Given the description of an element on the screen output the (x, y) to click on. 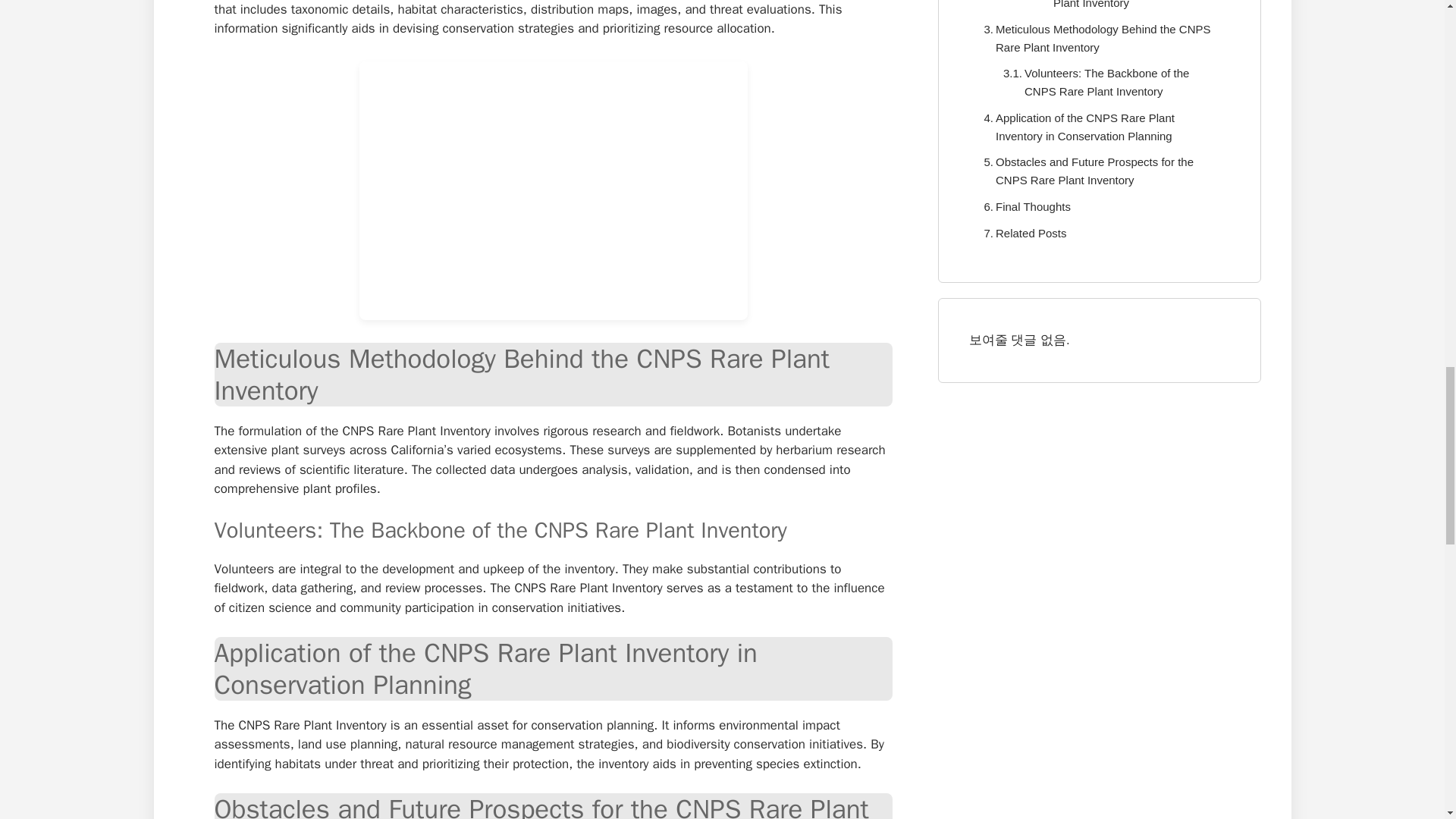
Breakdown of the CNPS Rare Plant Inventory (1117, 6)
Meticulous Methodology Behind the CNPS Rare Plant Inventory (1099, 38)
